Given the description of an element on the screen output the (x, y) to click on. 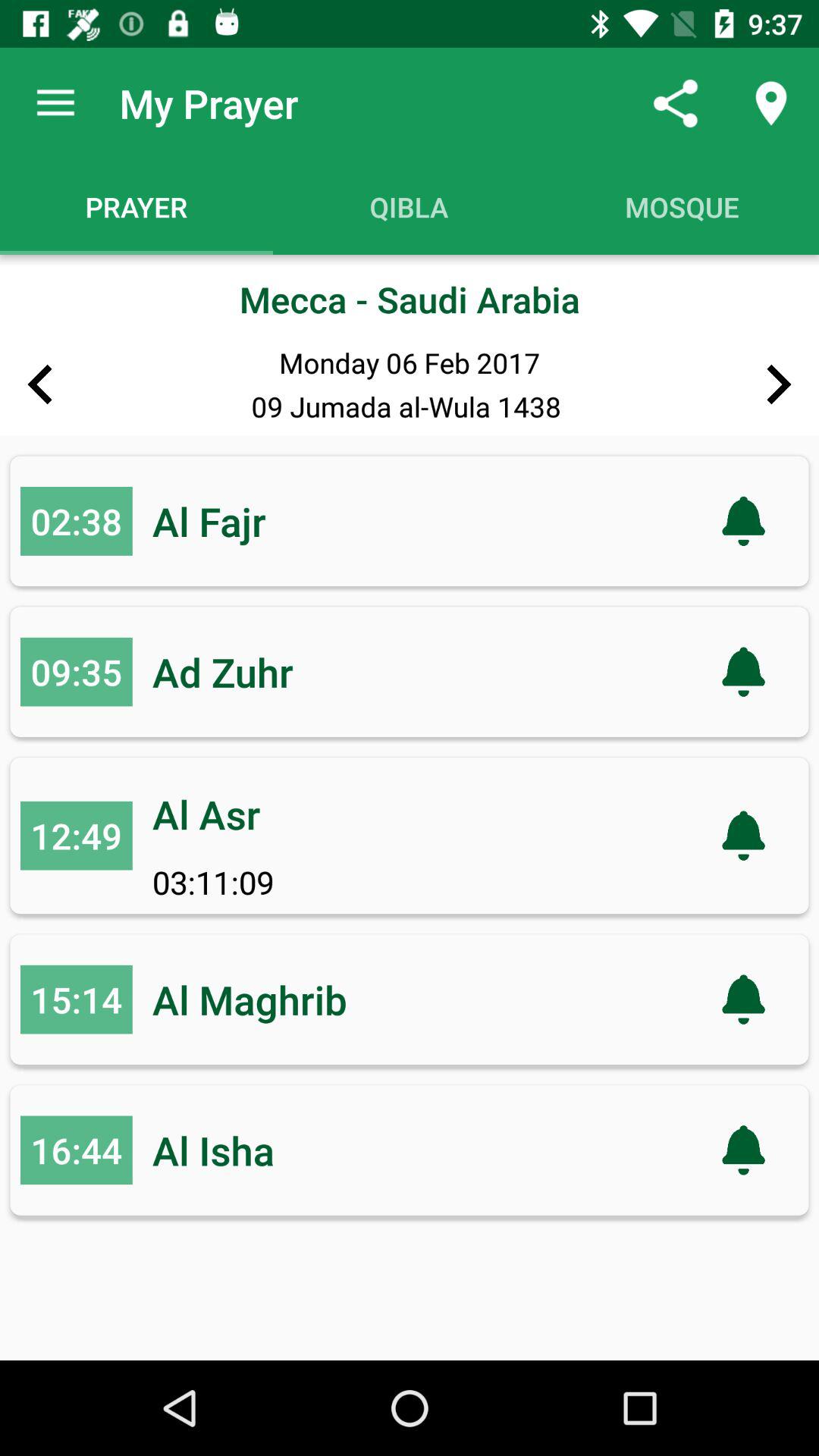
select the number left to al fajr (76, 521)
select the symbol which is beside al fajr (743, 521)
select the right arrow above the bell symbol (779, 385)
click the notification icon in the third line (743, 835)
